Given the description of an element on the screen output the (x, y) to click on. 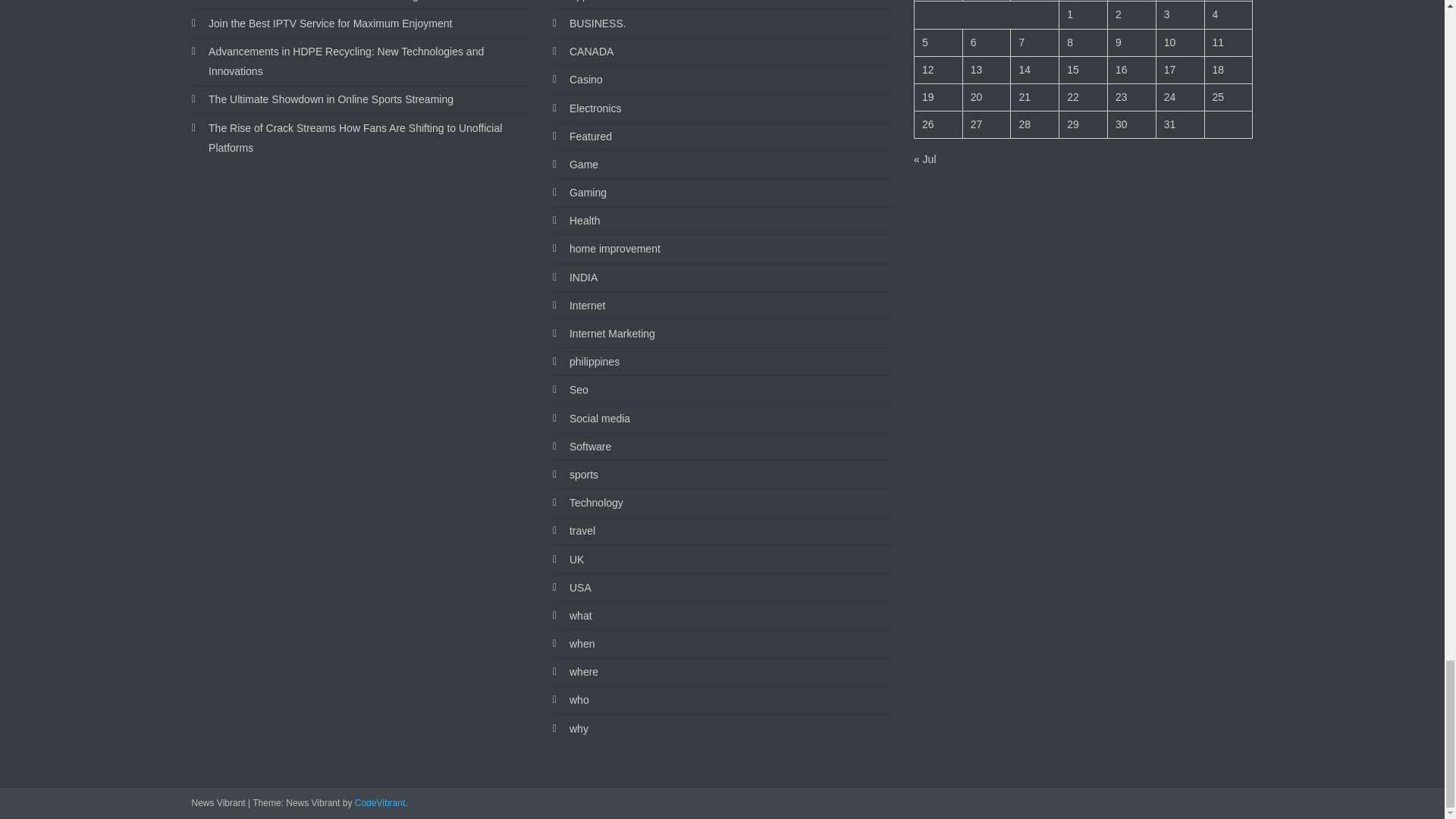
Thursday (1083, 0)
Sunday (1228, 0)
Friday (1131, 0)
Tuesday (986, 0)
Saturday (1180, 0)
Wednesday (1034, 0)
Monday (938, 0)
